Given the description of an element on the screen output the (x, y) to click on. 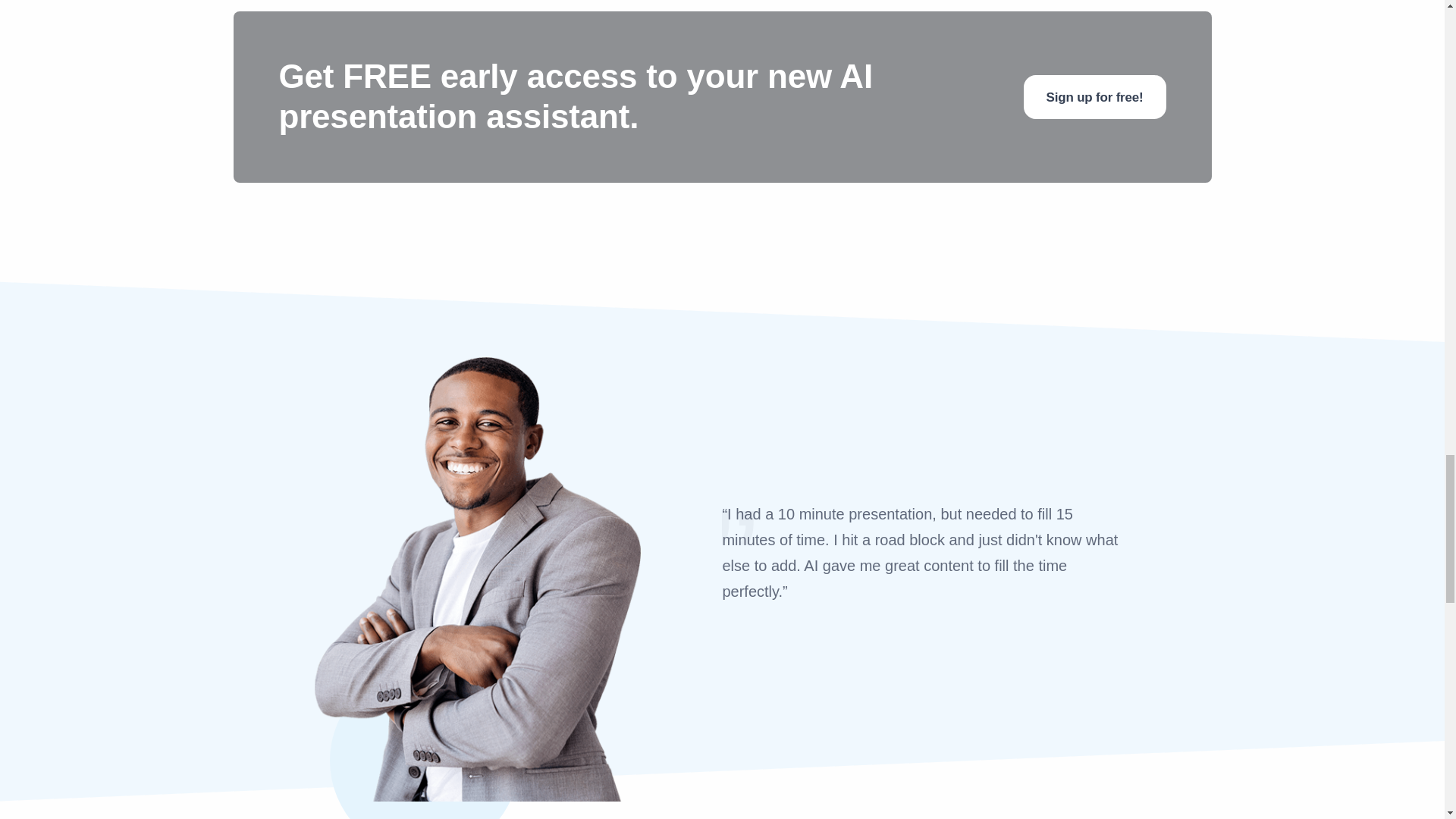
Sign up for free! (1094, 97)
